Given the description of an element on the screen output the (x, y) to click on. 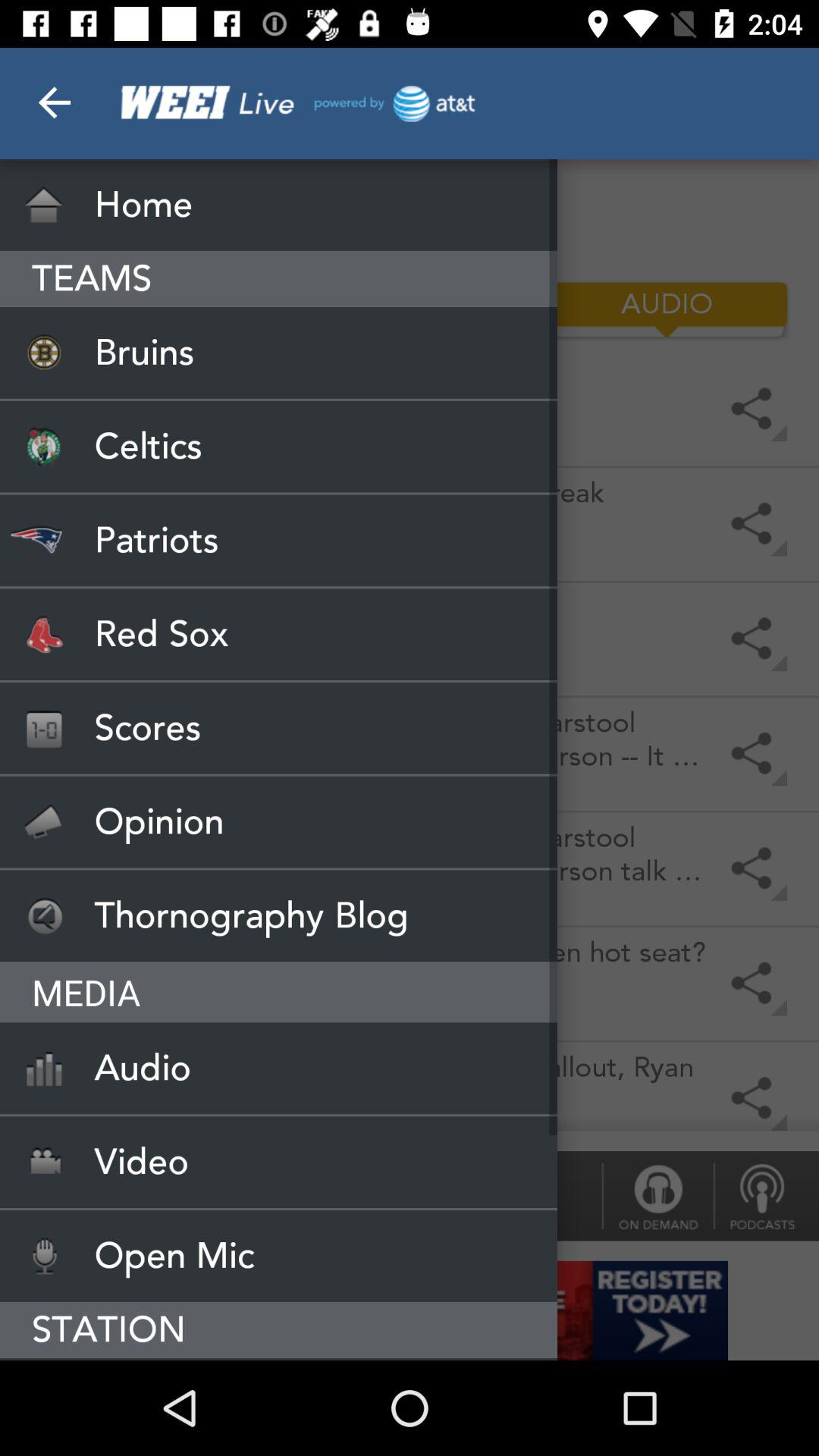
register (409, 1310)
